Given the description of an element on the screen output the (x, y) to click on. 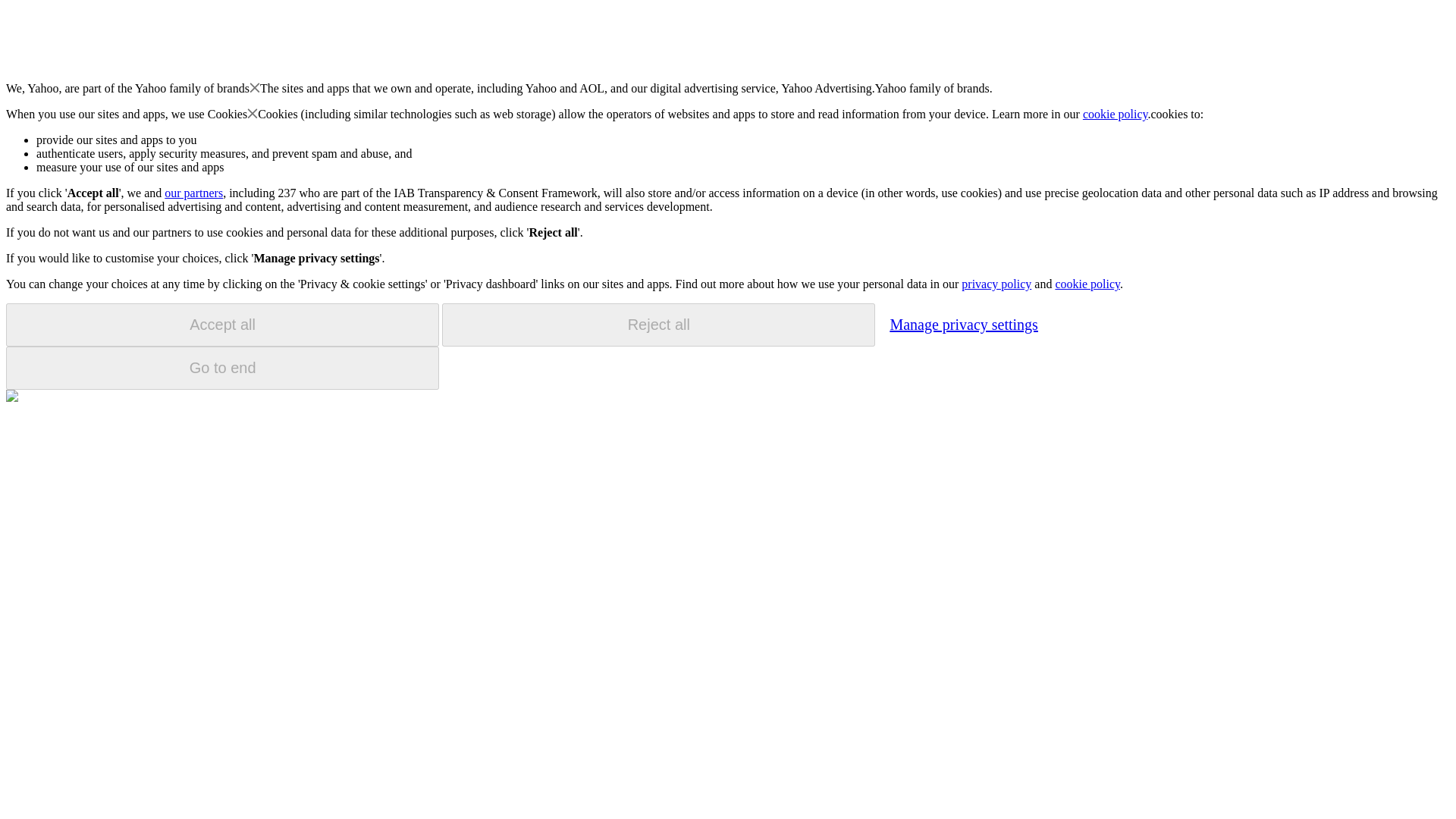
our partners (193, 192)
Manage privacy settings (963, 323)
cookie policy (1086, 283)
Go to end (222, 367)
privacy policy (995, 283)
Accept all (222, 324)
cookie policy (1115, 113)
Reject all (658, 324)
